Given the description of an element on the screen output the (x, y) to click on. 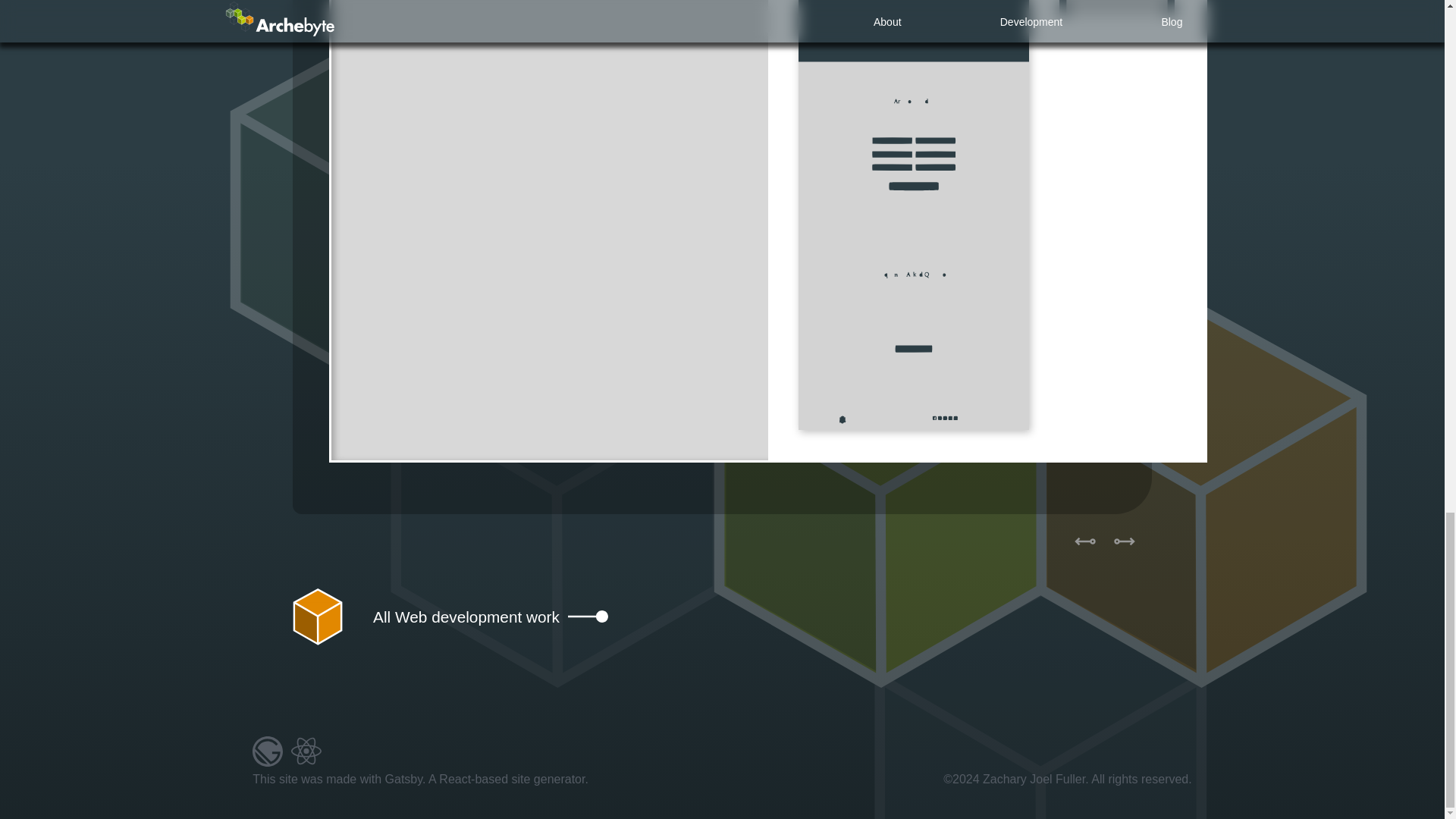
Next Project (1124, 541)
Link to Gatsbyjs.com (286, 756)
Previous Project (491, 616)
